Given the description of an element on the screen output the (x, y) to click on. 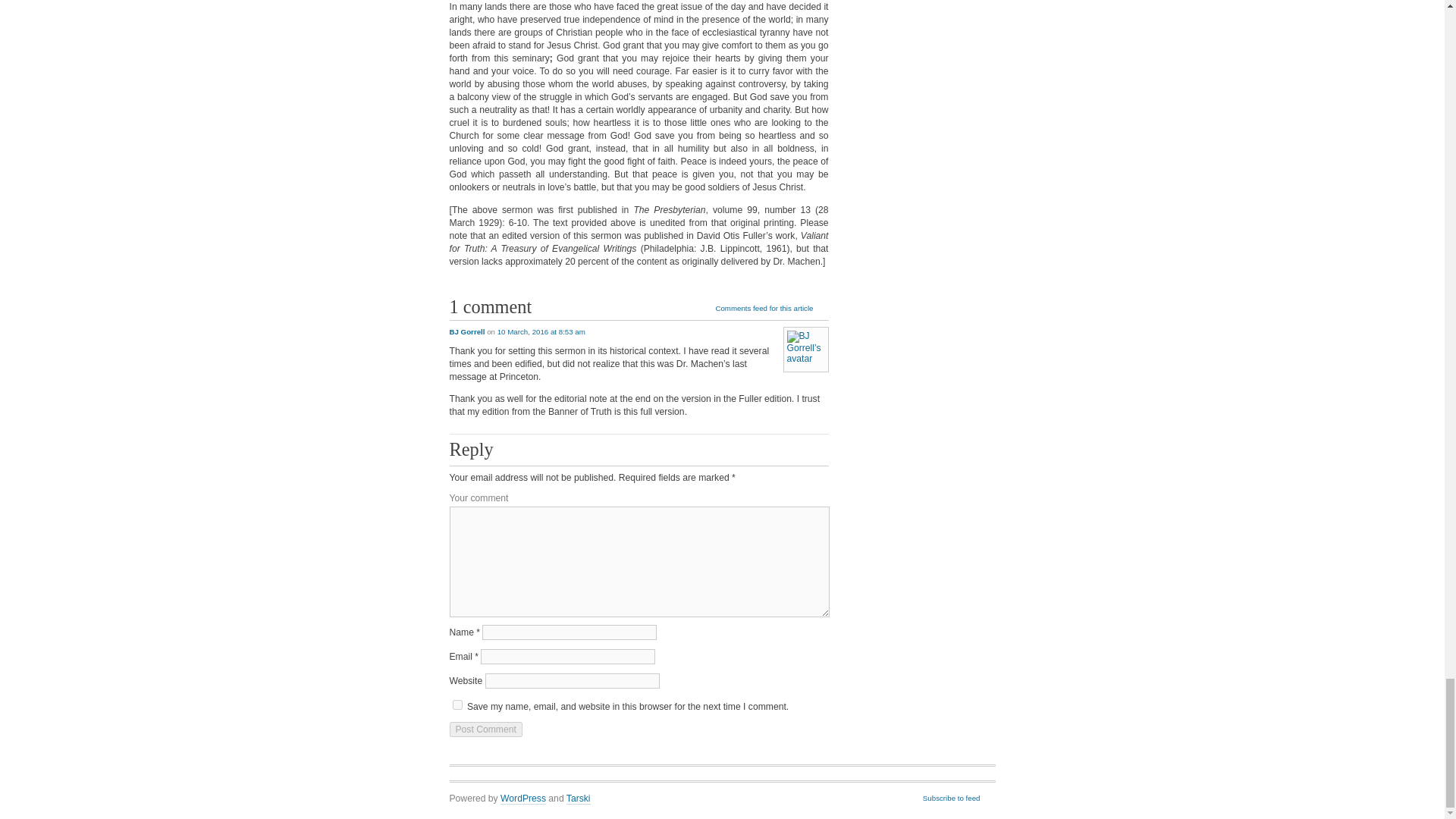
10 March, 2016 at 8:53 am (541, 331)
Post Comment (484, 729)
BJ Gorrell (466, 331)
WordPress (523, 798)
Tarski (578, 798)
Post Comment (484, 729)
Permalink to this comment (541, 331)
Subscribe to feed (959, 798)
yes (456, 705)
Comments feed for this article (771, 309)
